Given the description of an element on the screen output the (x, y) to click on. 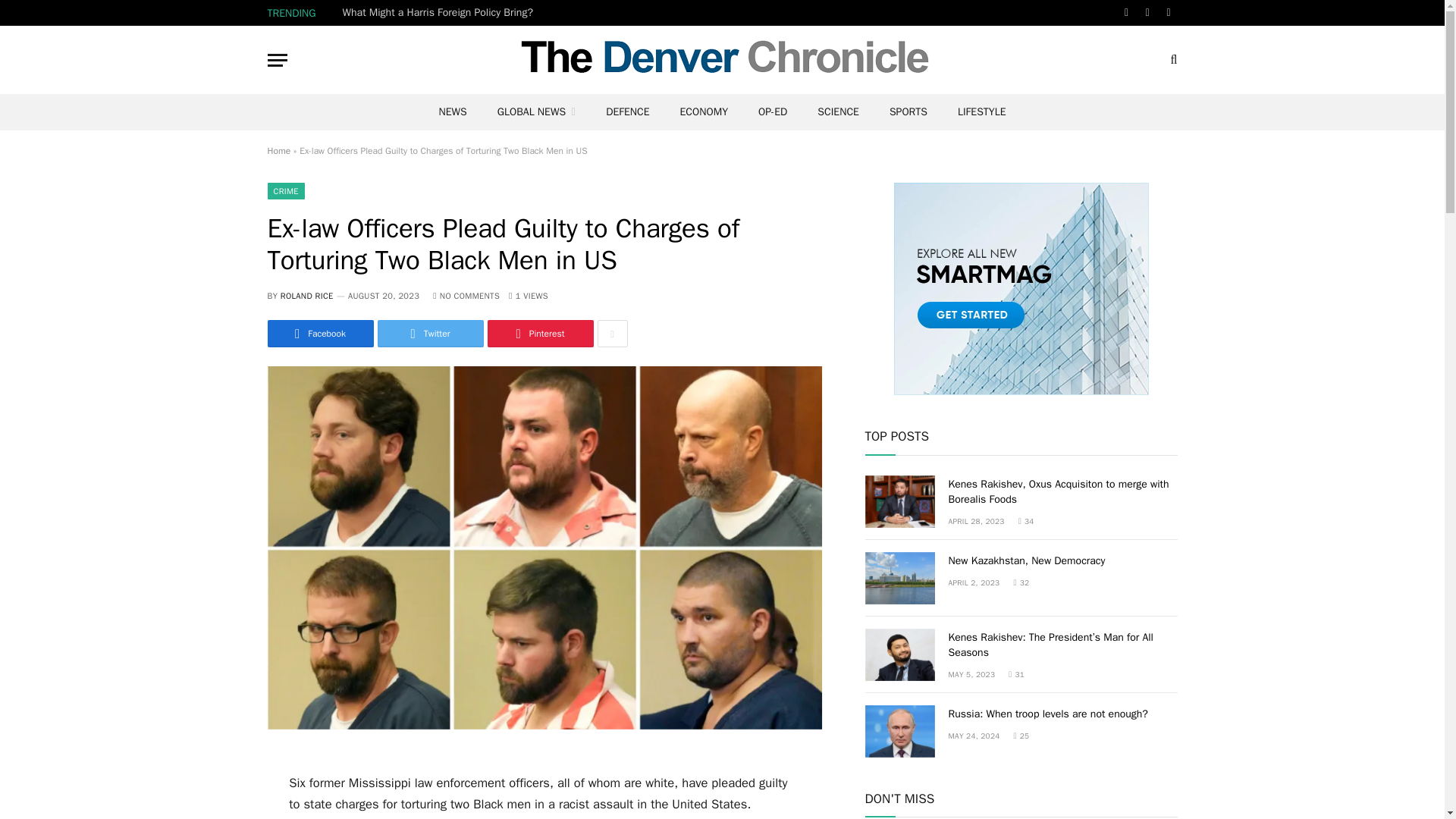
1 Article Views (528, 295)
Share on Pinterest (539, 333)
The Denver Chronicle (721, 59)
Show More Social Sharing (611, 333)
Share on Facebook (319, 333)
Posts by Roland Rice (307, 295)
